Given the description of an element on the screen output the (x, y) to click on. 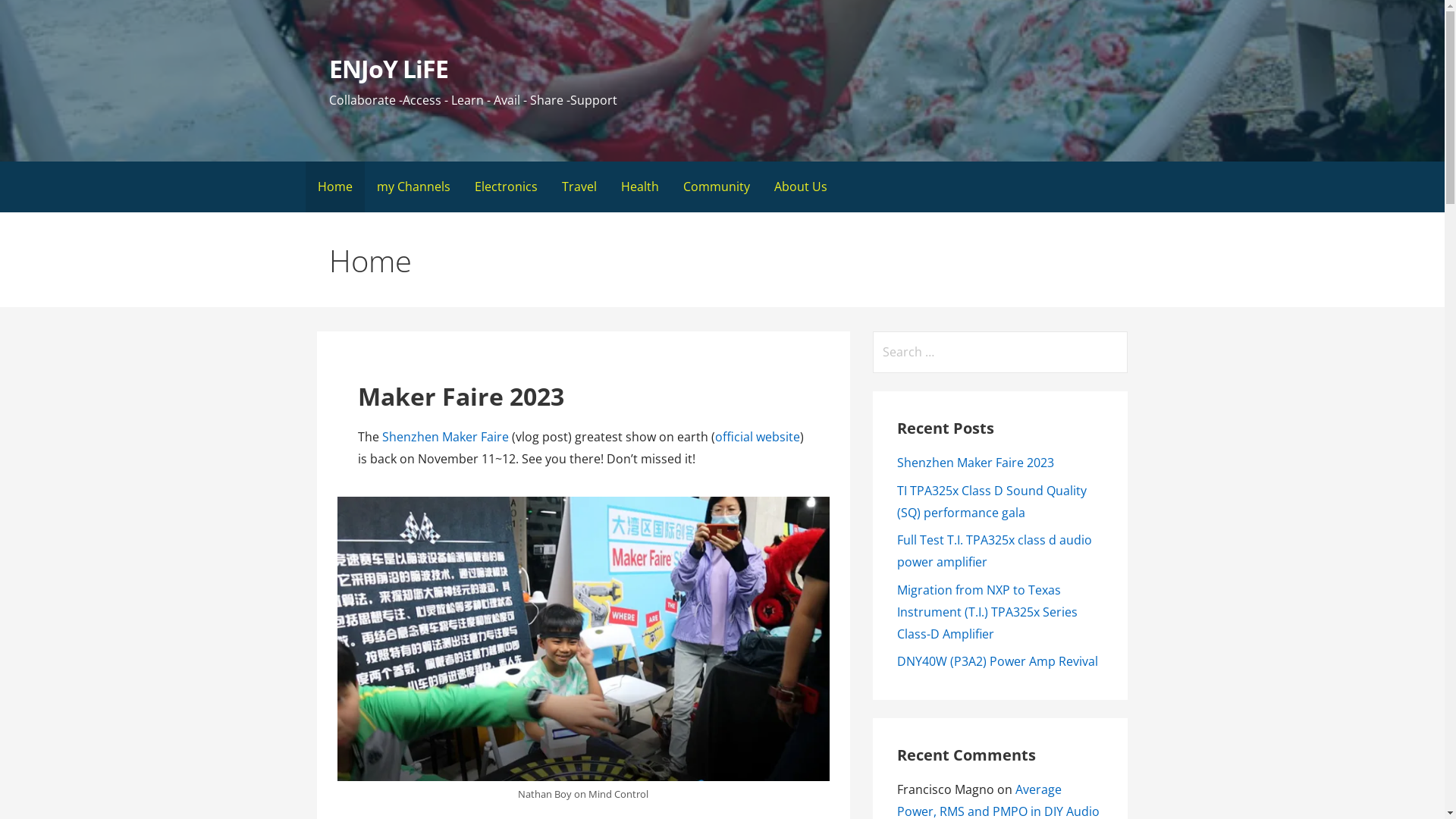
Community Element type: text (715, 186)
Shenzhen Maker Faire Element type: text (445, 436)
Home Element type: text (334, 186)
Health Element type: text (639, 186)
my Channels Element type: text (412, 186)
About Us Element type: text (799, 186)
Travel Element type: text (578, 186)
Full Test T.I. TPA325x class d audio power amplifier Element type: text (994, 550)
Search Element type: text (31, 15)
official website Element type: text (757, 436)
ENJoY LiFE Element type: text (388, 68)
Electronics Element type: text (505, 186)
DNY40W (P3A2) Power Amp Revival Element type: text (997, 660)
TI TPA325x Class D Sound Quality (SQ) performance gala Element type: text (991, 501)
Shenzhen Maker Faire 2023 Element type: text (975, 462)
